Given the description of an element on the screen output the (x, y) to click on. 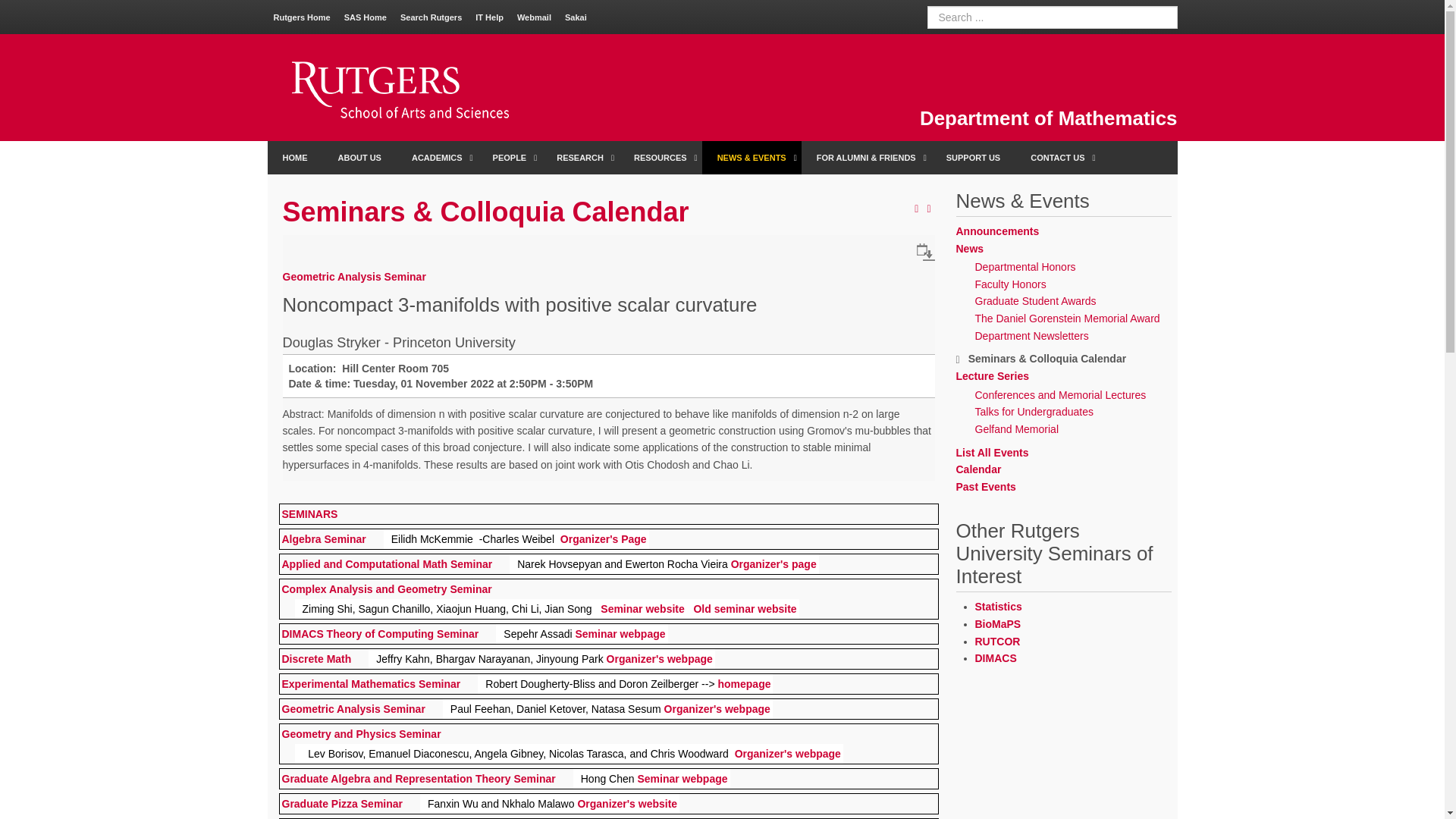
Discrete Math (317, 658)
Algebra Seminar (324, 539)
ACADEMICS (436, 157)
Geometry and Physics Seminar (361, 734)
Complex Analysis and Geometry Seminar (387, 589)
SEMINARS (309, 513)
Sakai (575, 17)
Graduate Algebra and Representation Theory Seminar (419, 778)
Department of Mathematics (1048, 117)
Print (928, 208)
SAS Home (365, 17)
Geometric Analysis Seminar (353, 708)
Graduate Pizza Seminar (342, 803)
DIMACS Theory of Computing Seminar (380, 633)
EMAIL (916, 208)
